Given the description of an element on the screen output the (x, y) to click on. 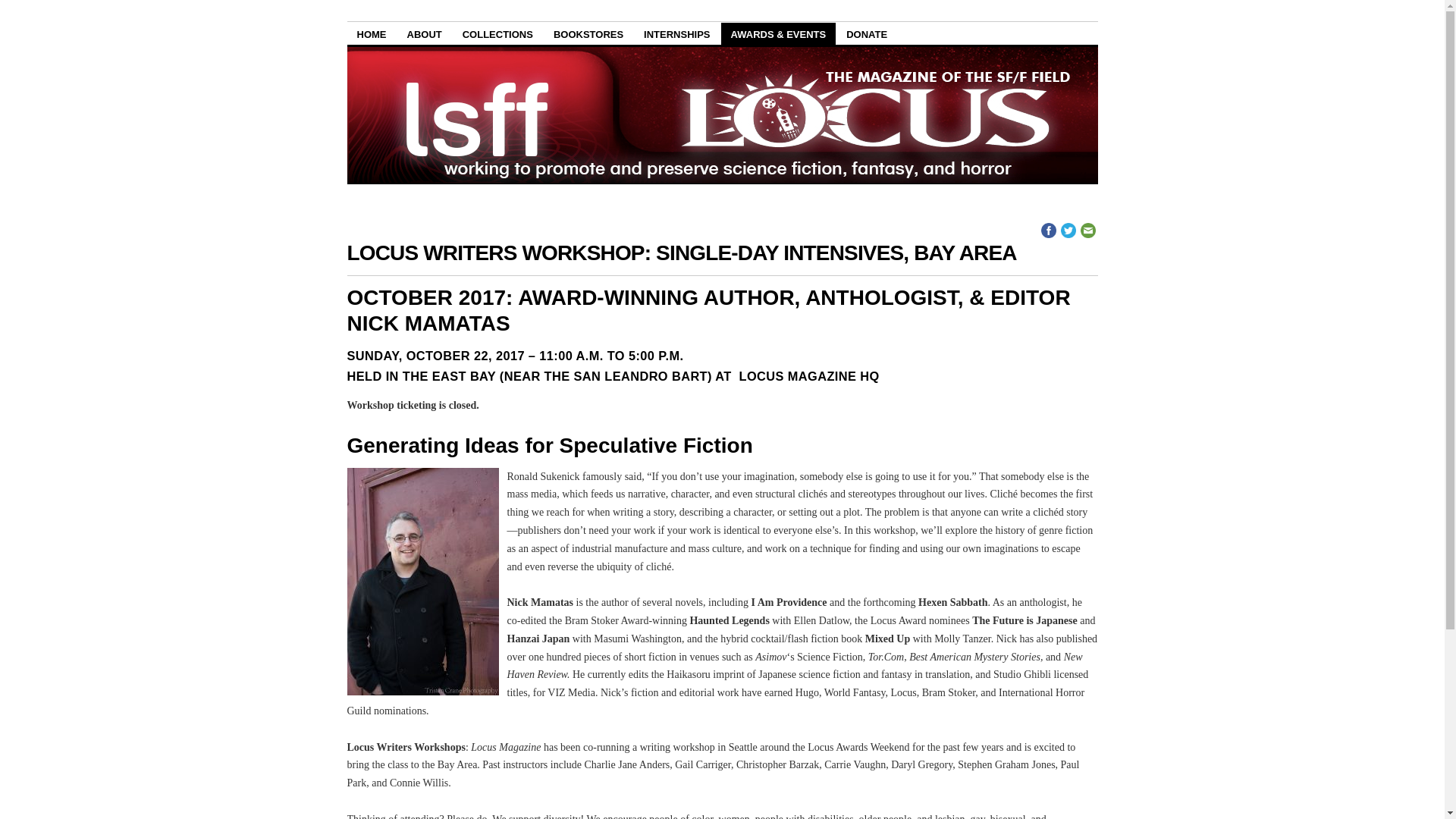
HOME (371, 33)
DONATE (865, 33)
BOOKSTORES (588, 33)
facebook (1048, 230)
INTERNSHIPS (676, 33)
ABOUT (424, 33)
email (1087, 230)
COLLECTIONS (497, 33)
twitter (1068, 230)
